Given the description of an element on the screen output the (x, y) to click on. 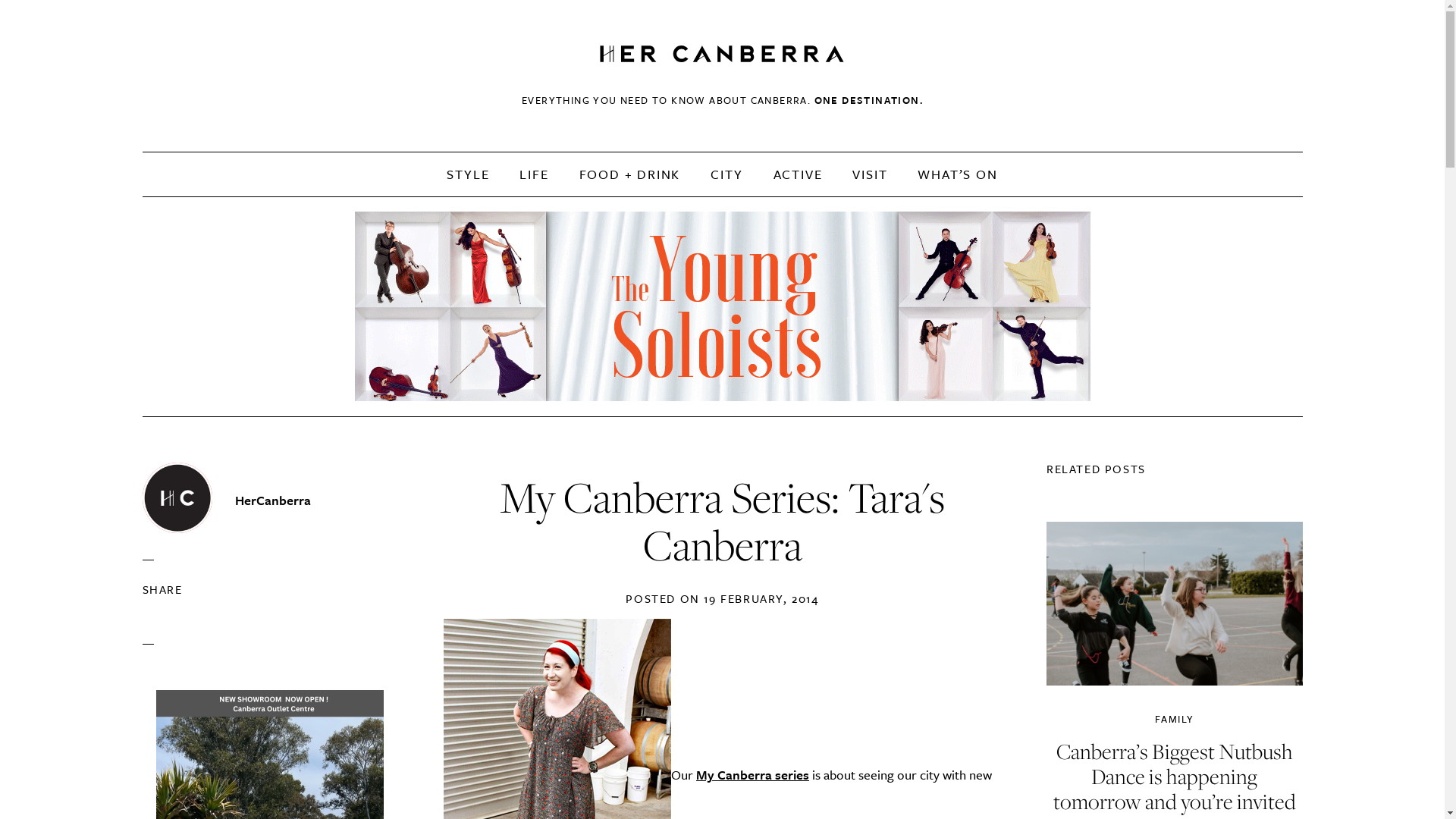
FOOD + DRINK Element type: text (629, 174)
FAMILY Element type: text (1173, 719)
HerCanberra Element type: text (721, 54)
LIFE Element type: text (533, 174)
STYLE Element type: text (467, 174)
CITY Element type: text (726, 174)
My Canberra series Element type: text (752, 774)
ACTIVE Element type: text (797, 174)
3rd party ad content Element type: hover (722, 306)
HerCanberra Element type: text (272, 499)
VISIT Element type: text (869, 174)
